Given the description of an element on the screen output the (x, y) to click on. 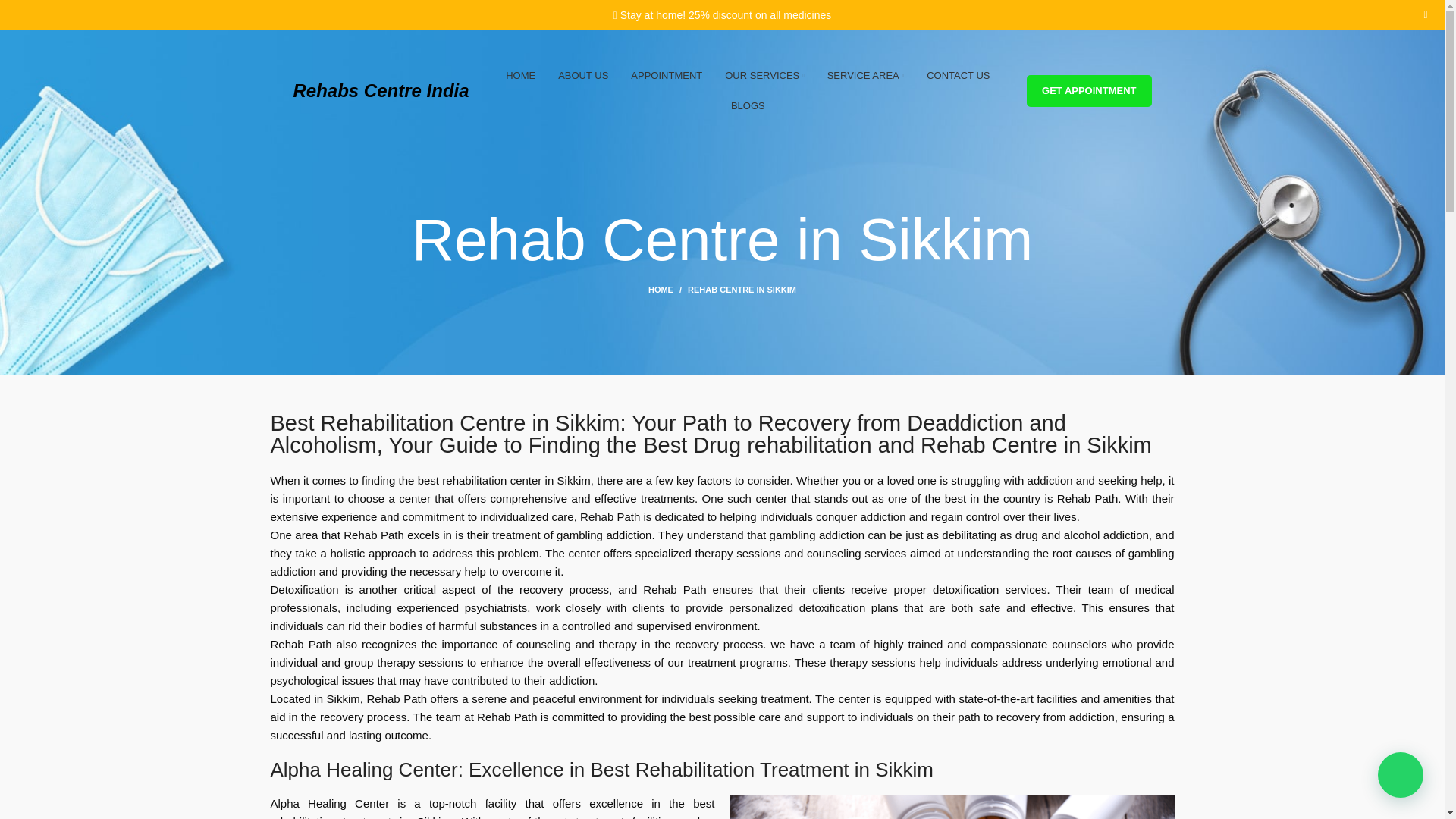
APPOINTMENT (666, 75)
OUR SERVICES (764, 75)
ABOUT US (583, 75)
HOME (521, 75)
Rehabs Centre India (380, 90)
SERVICE AREA (865, 75)
